Given the description of an element on the screen output the (x, y) to click on. 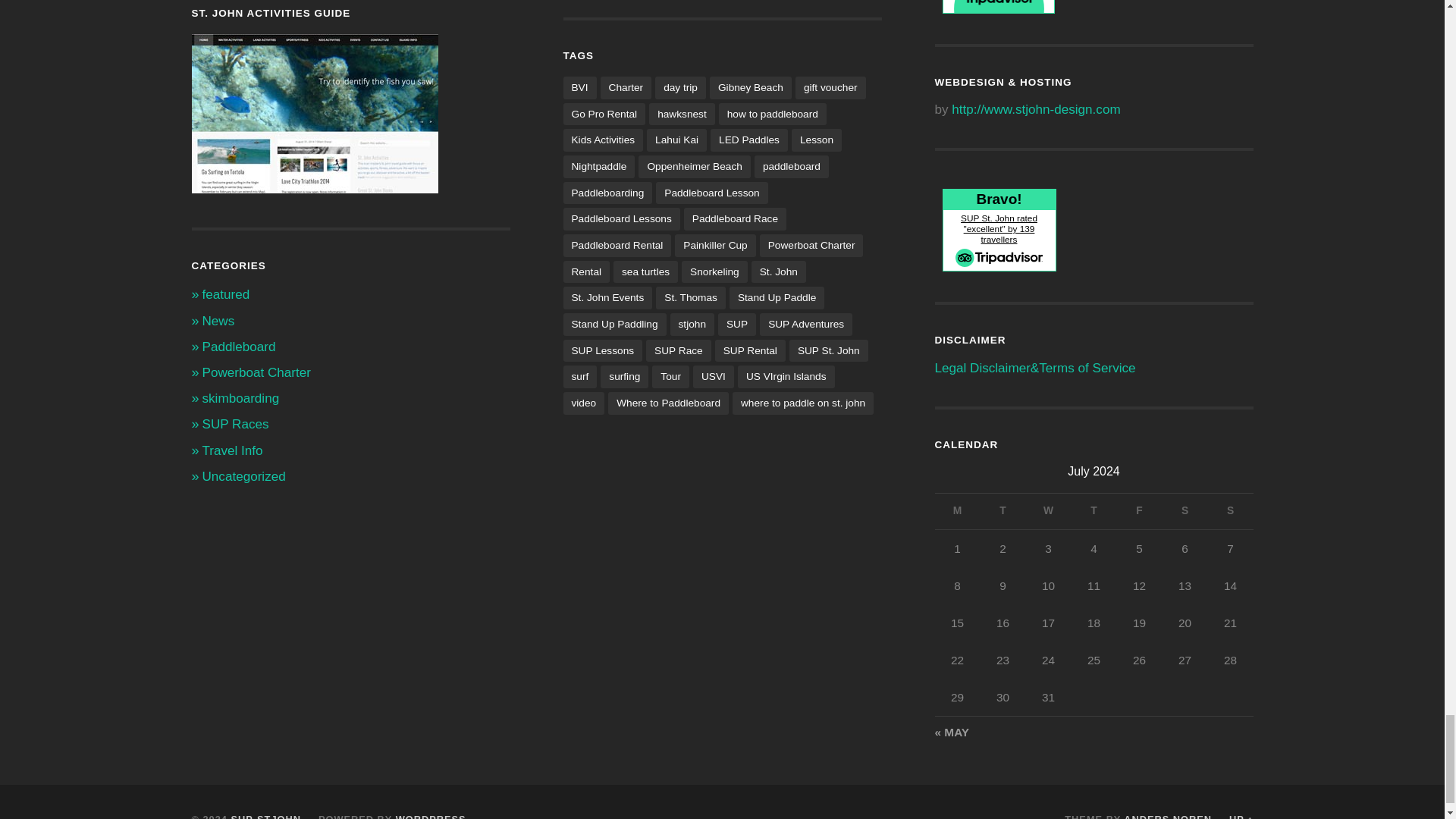
Wednesday (1047, 511)
Saturday (1184, 511)
Monday (956, 511)
St. John News and Events (218, 320)
Tuesday (1002, 511)
Thursday (1093, 511)
Friday (1138, 511)
Sunday (1229, 511)
